Given the description of an element on the screen output the (x, y) to click on. 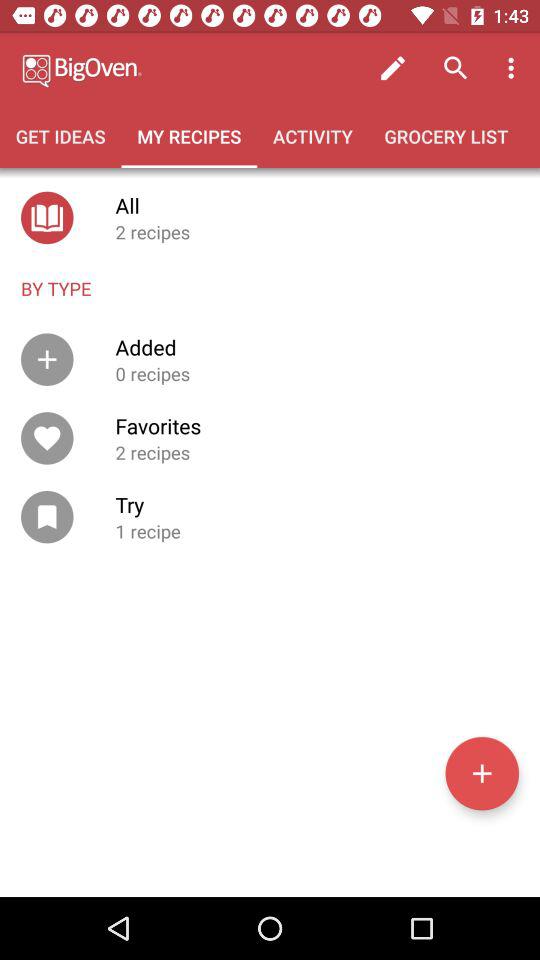
add new (482, 773)
